Given the description of an element on the screen output the (x, y) to click on. 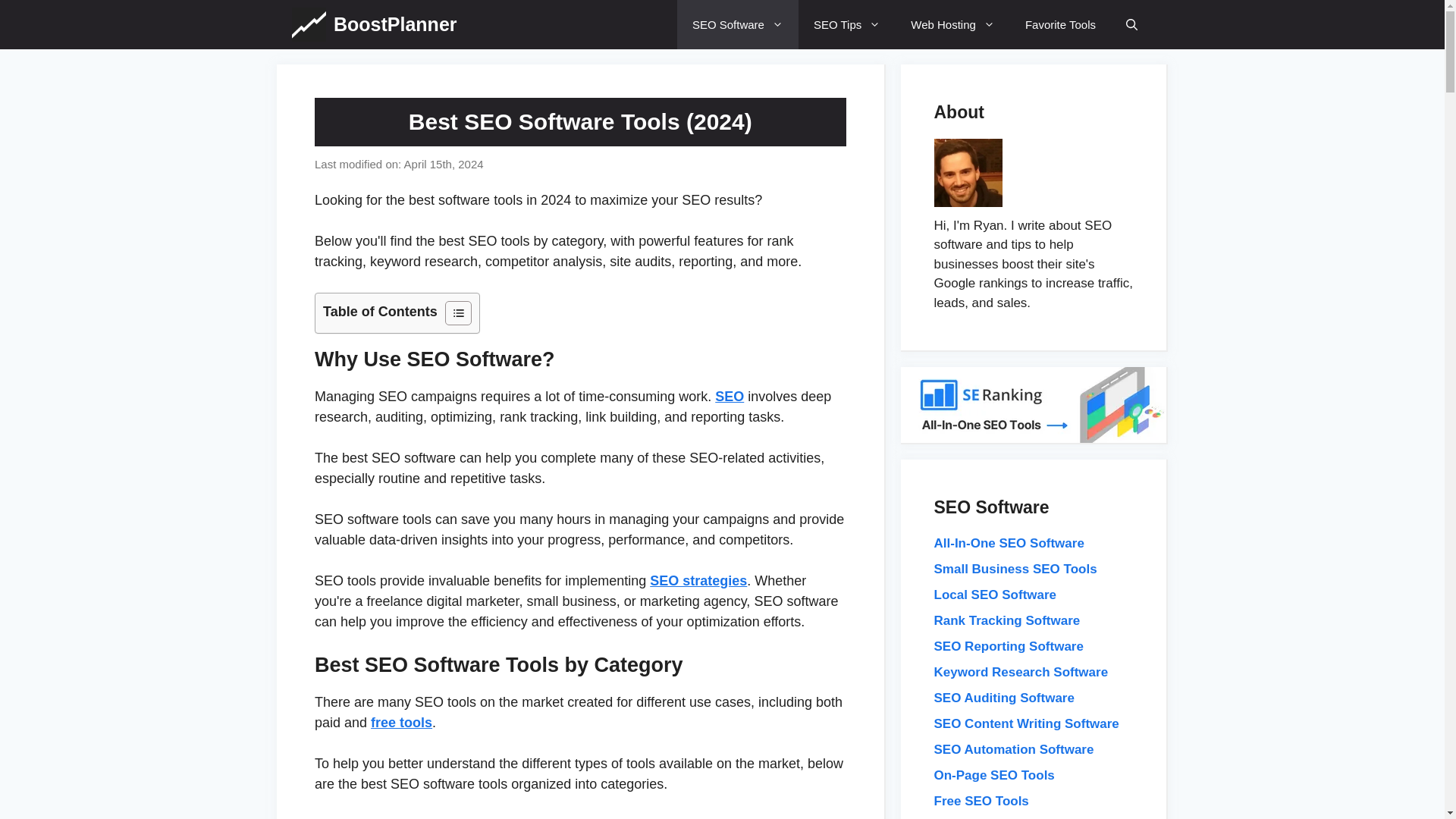
SEO Tips (846, 24)
BoostPlanner (395, 24)
SEO Software (737, 24)
Web Hosting (952, 24)
SEO Tips (846, 24)
Favorite Tools (1060, 24)
SEO Software (737, 24)
